Given the description of an element on the screen output the (x, y) to click on. 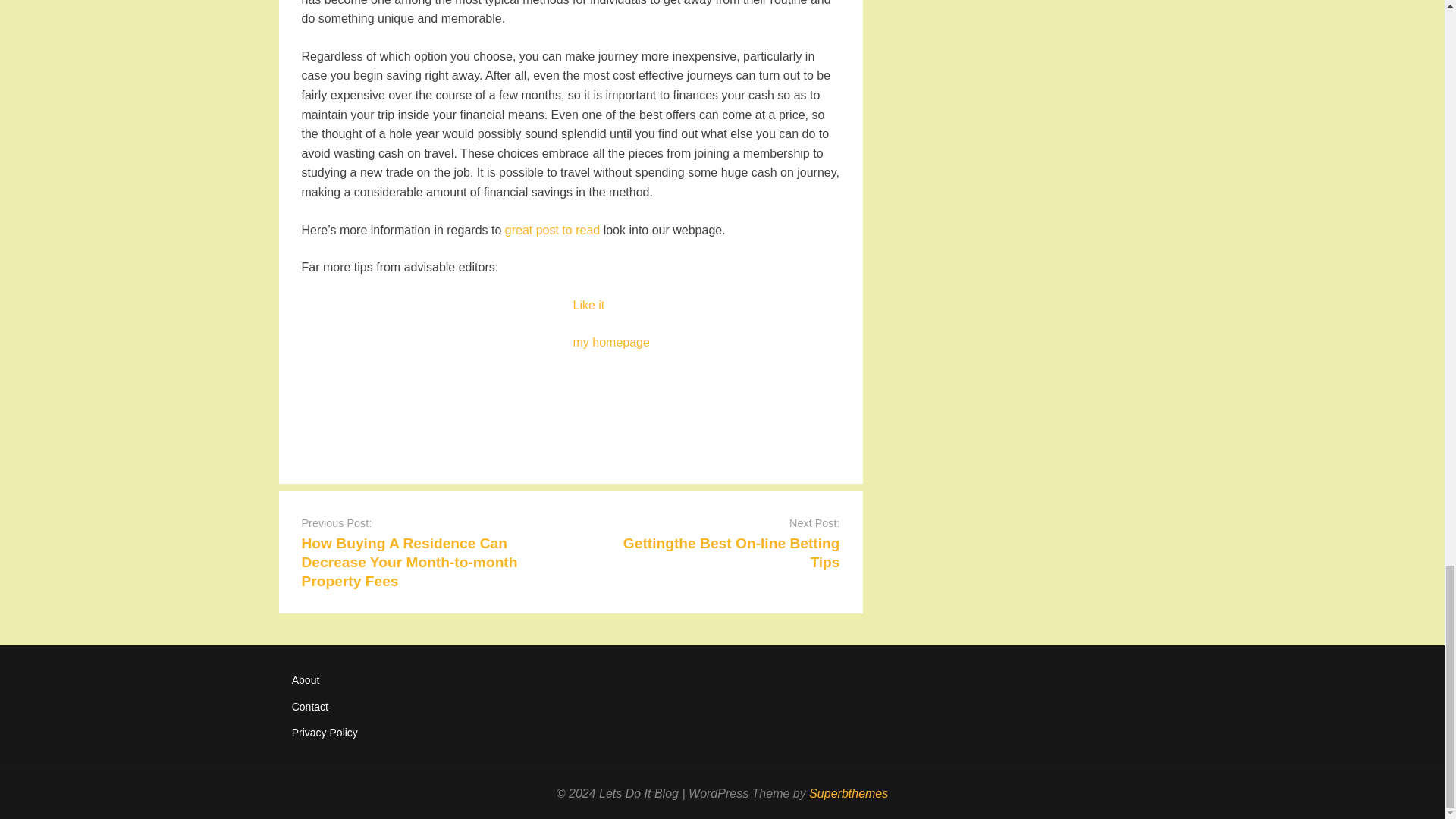
great post to read (552, 229)
Superbthemes (848, 793)
Gettingthe Best On-line Betting Tips (731, 552)
Contact (310, 706)
Privacy Policy (325, 732)
my homepage (611, 341)
Like it (589, 305)
About (306, 680)
